Given the description of an element on the screen output the (x, y) to click on. 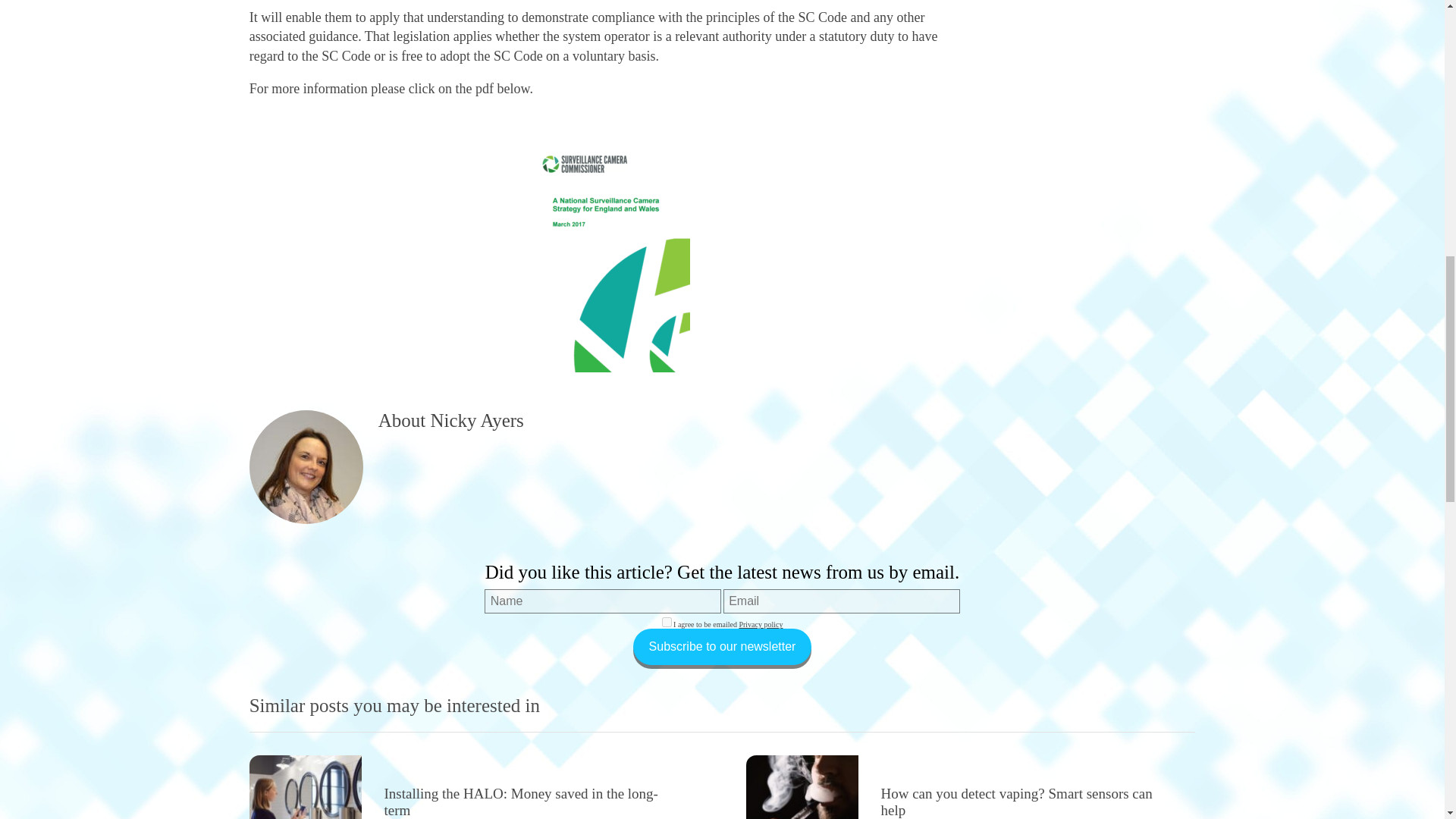
on (666, 622)
